Given the description of an element on the screen output the (x, y) to click on. 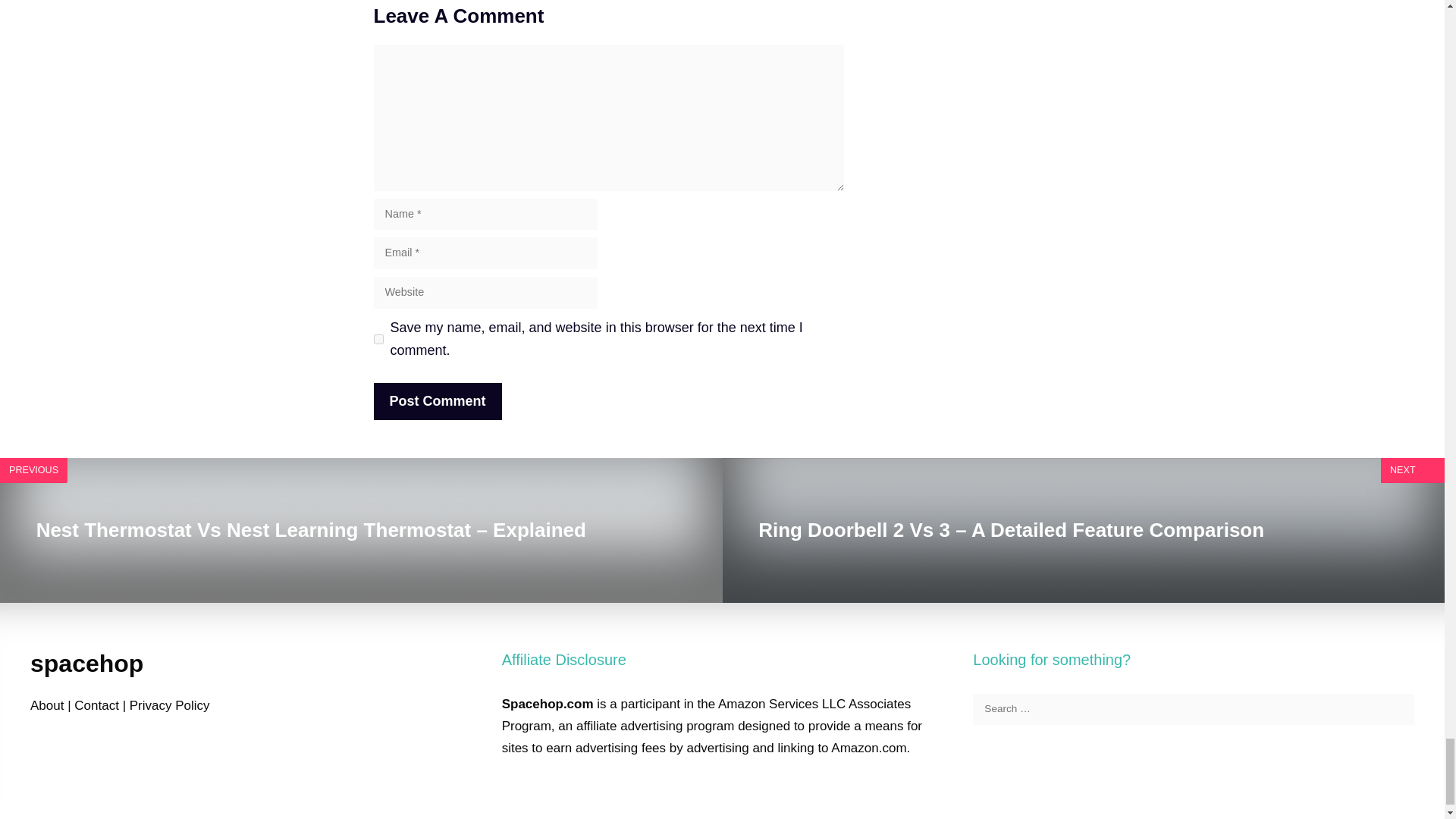
yes (377, 338)
Post Comment (436, 401)
